Given the description of an element on the screen output the (x, y) to click on. 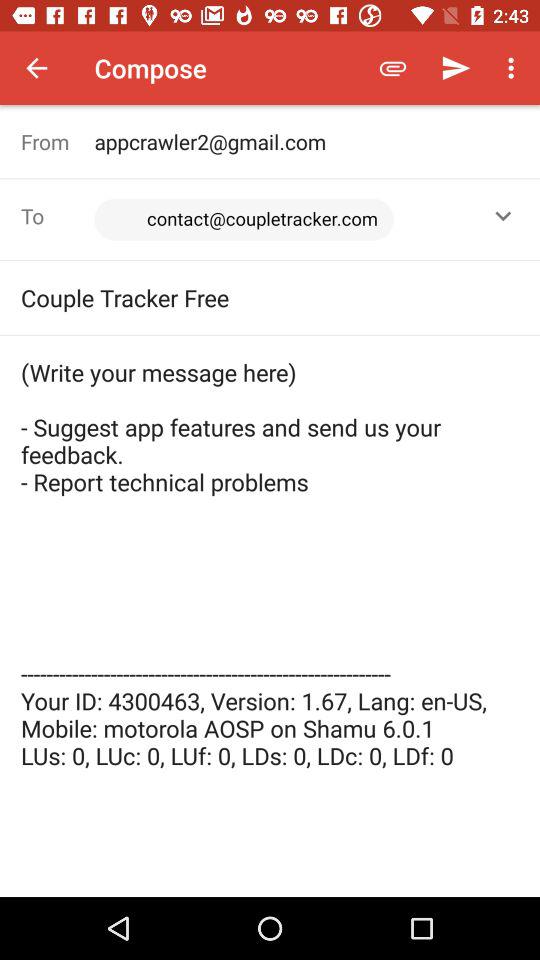
launch the icon next to the appcrawler2@gmail.com item (57, 141)
